Given the description of an element on the screen output the (x, y) to click on. 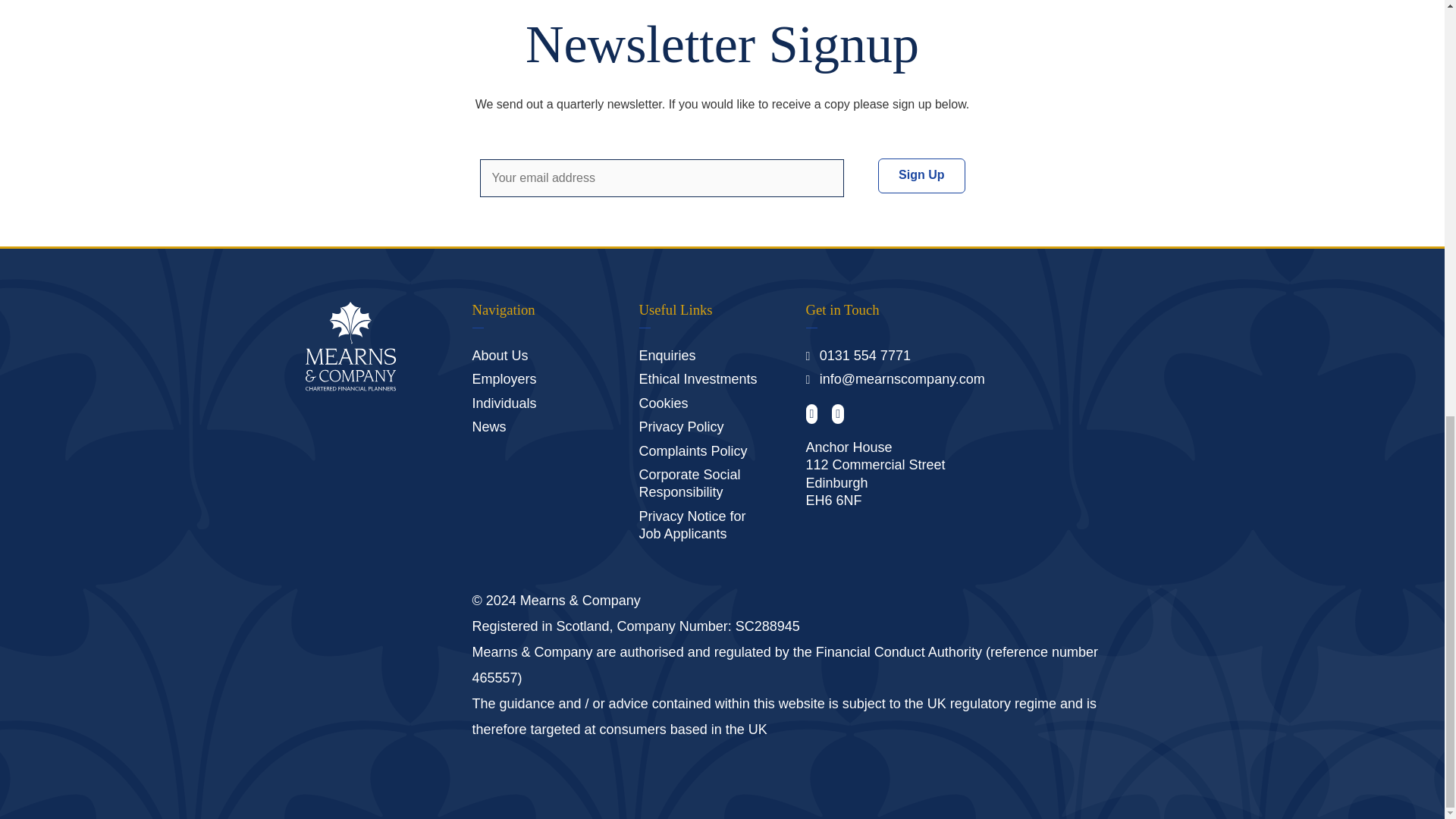
Complaints Policy (692, 450)
Employers (503, 378)
Privacy Notice for Job Applicants (692, 524)
Cookies (663, 403)
Sign Up (920, 175)
News (488, 426)
Privacy Policy (681, 426)
Corporate Social Responsibility (689, 482)
Enquiries (667, 355)
Sign Up (920, 175)
Ethical Investments (698, 378)
Individuals (503, 403)
0131 554 7771 (865, 355)
About Us (499, 355)
